Given the description of an element on the screen output the (x, y) to click on. 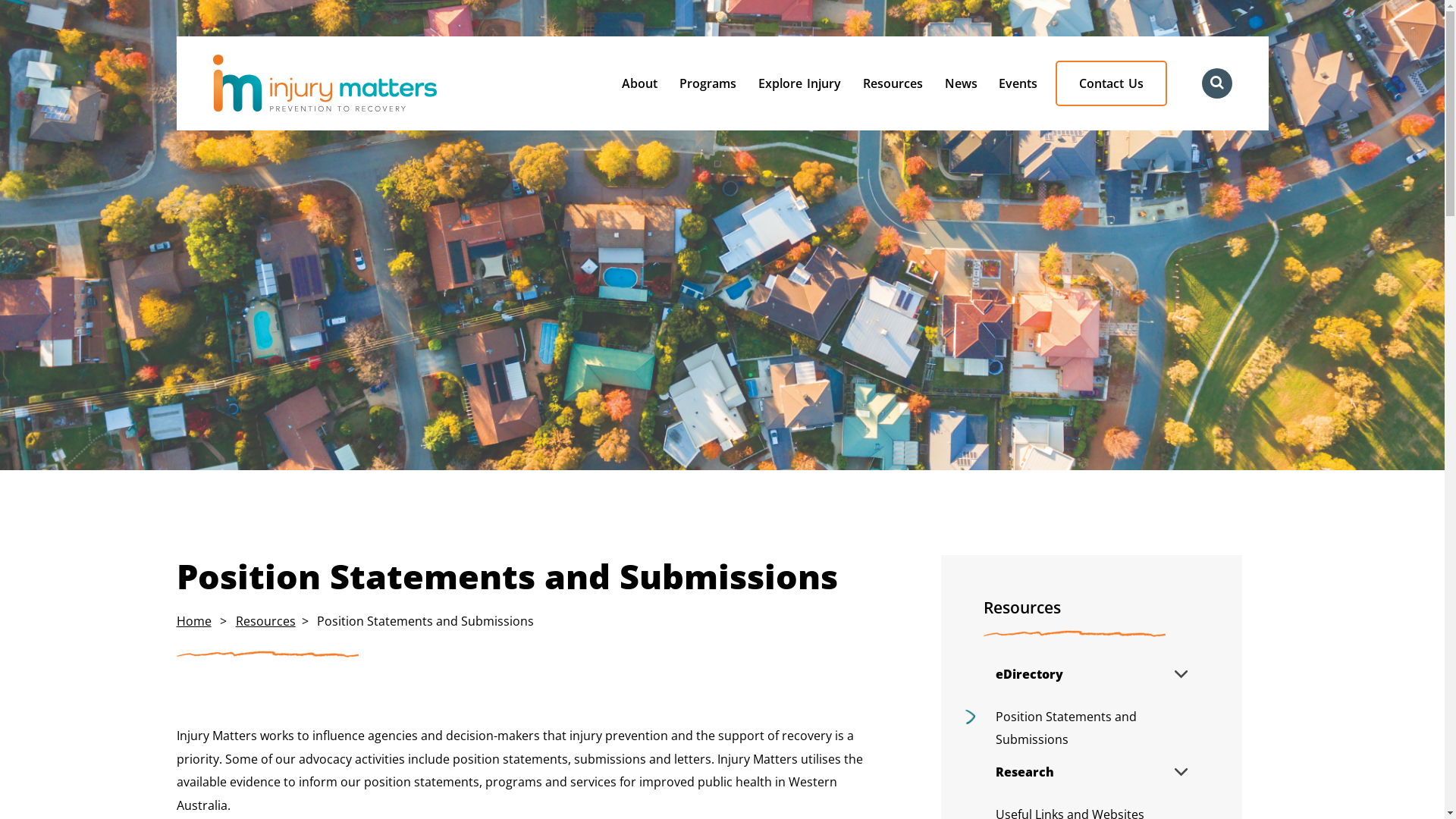
Programs Element type: text (707, 83)
Position Statements and Submissions Element type: text (1090, 727)
Contact Us Element type: text (1111, 83)
Home Element type: text (193, 620)
Research Element type: text (1090, 771)
Resources Element type: text (265, 620)
Events Element type: text (1018, 83)
Injury Matters Element type: hover (356, 82)
About Element type: text (640, 83)
Resources Element type: text (1090, 621)
Explore Injury Element type: text (799, 83)
News Element type: text (961, 83)
Resources Element type: text (892, 83)
eDirectory Element type: text (1090, 673)
